Given the description of an element on the screen output the (x, y) to click on. 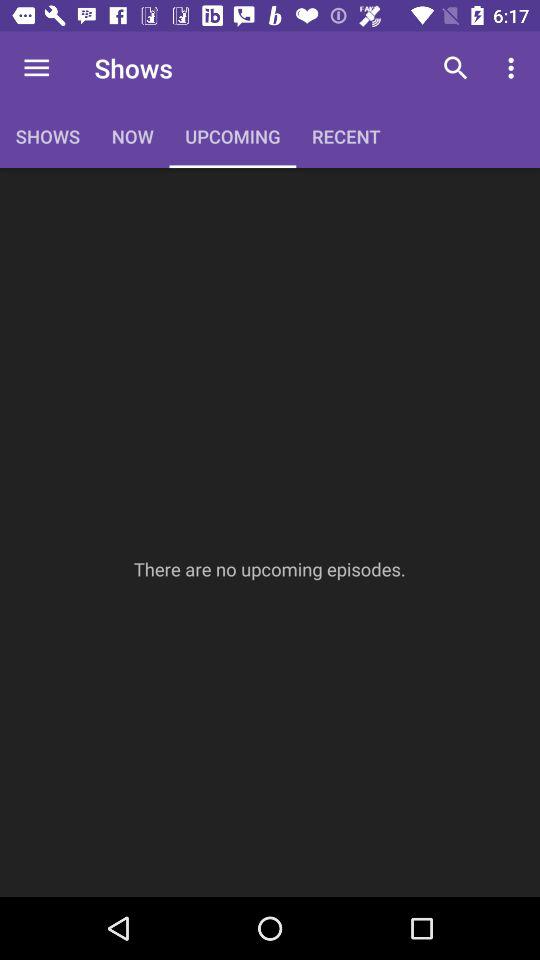
press the icon to the left of the shows item (36, 68)
